Given the description of an element on the screen output the (x, y) to click on. 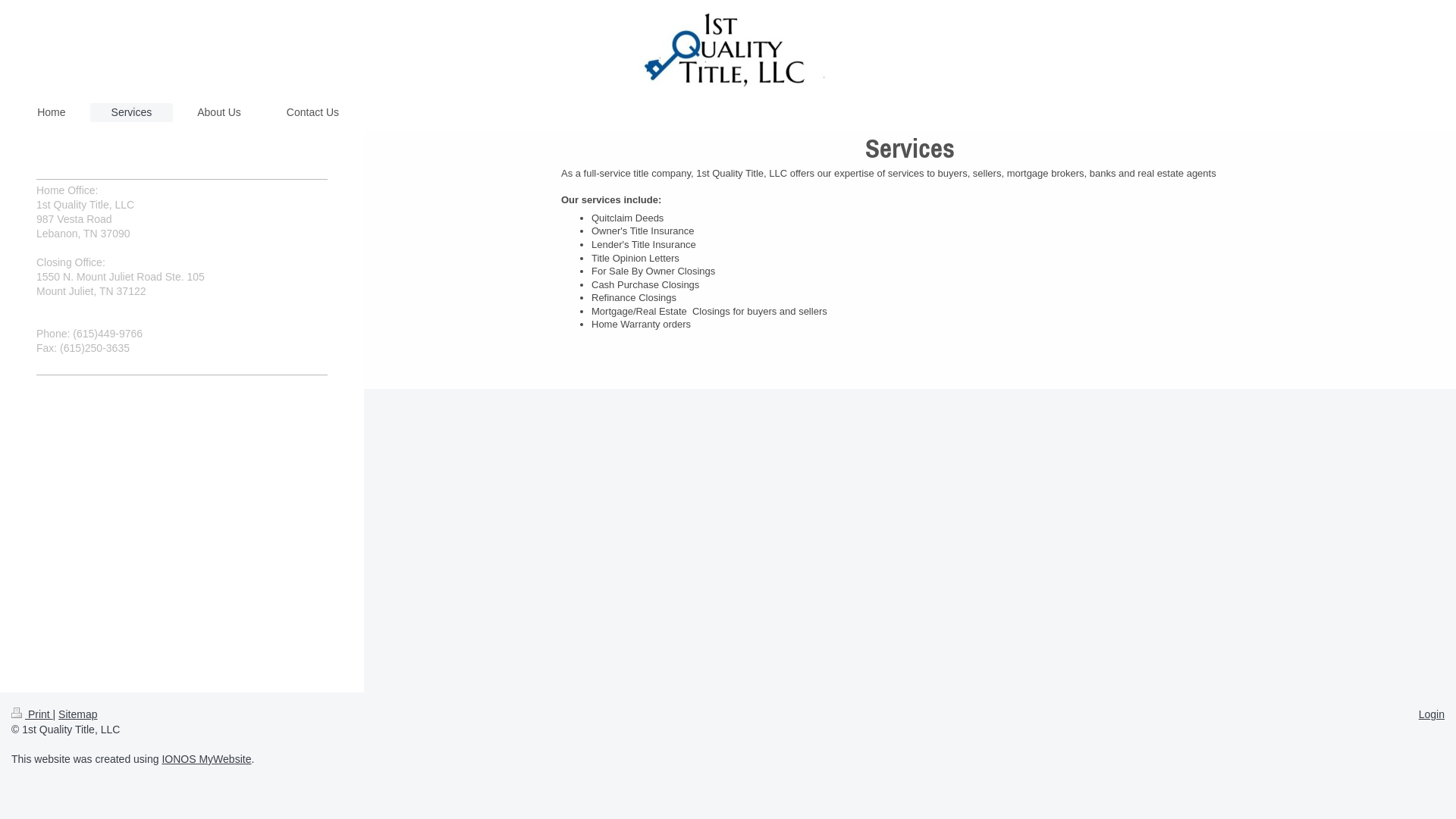
About Us Element type: text (218, 112)
IONOS MyWebsite Element type: text (206, 759)
Services Element type: text (131, 112)
Login Element type: text (1431, 714)
Home Element type: text (50, 112)
Sitemap Element type: text (77, 714)
Print Element type: text (32, 714)
Contact Us Element type: text (312, 112)
